Given the description of an element on the screen output the (x, y) to click on. 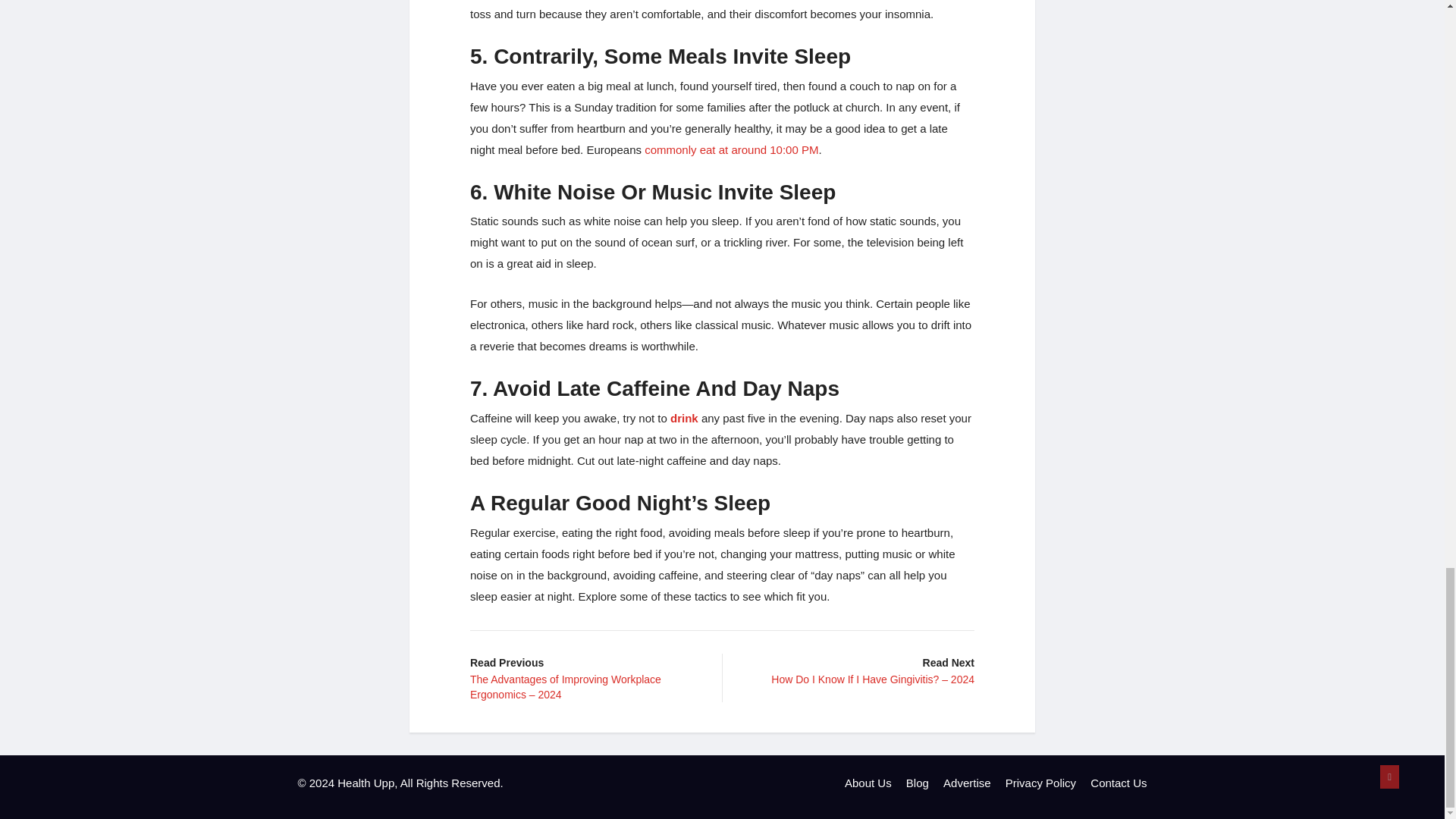
Privacy Policy (1040, 782)
Advertise (967, 782)
drink (683, 418)
commonly eat at around 10:00 PM (730, 149)
Contact Us (1118, 782)
Blog (916, 782)
About Us (867, 782)
